Given the description of an element on the screen output the (x, y) to click on. 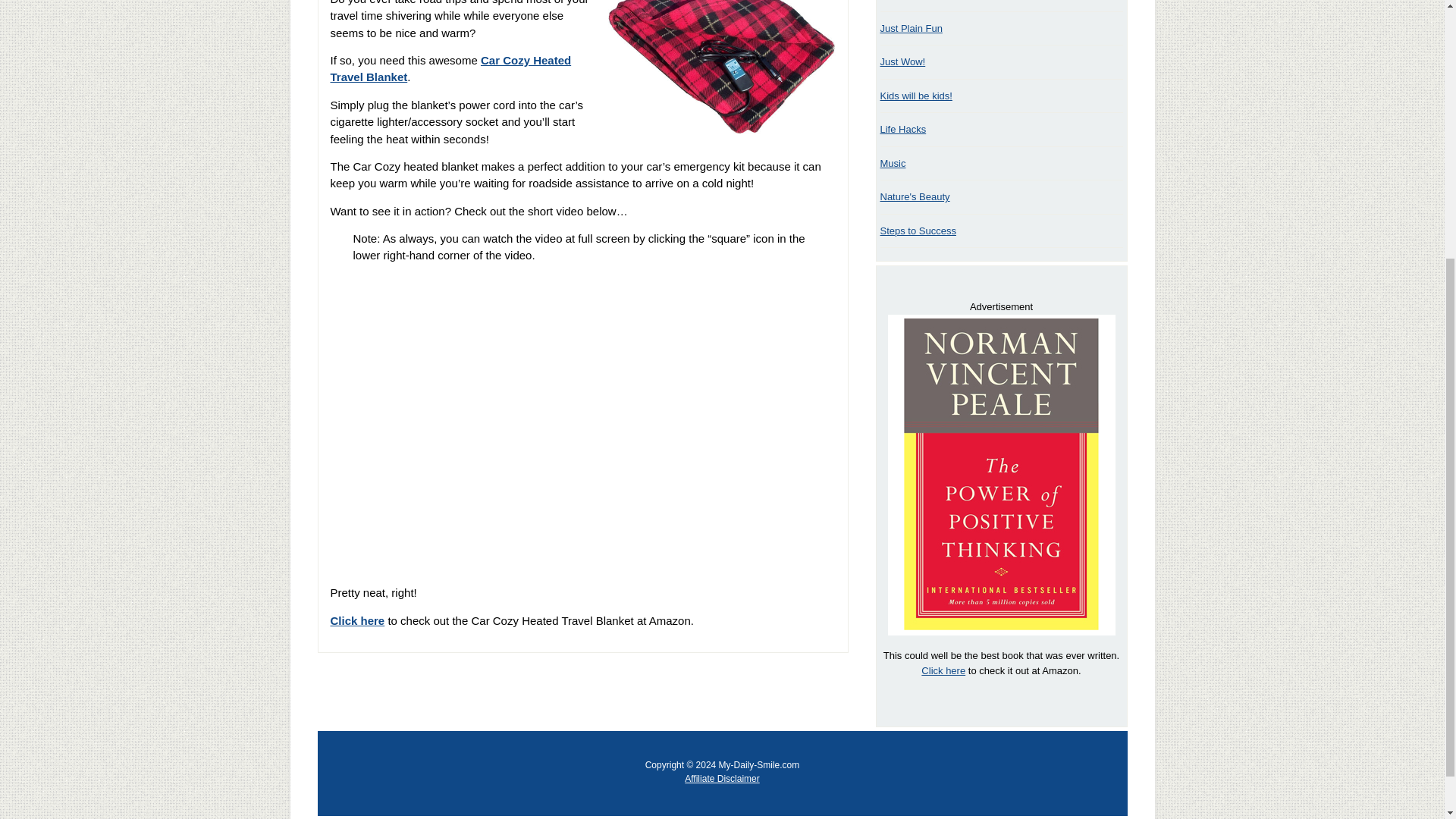
Click here (357, 620)
Steps to Success (917, 230)
Kids will be kids! (915, 95)
Click here (943, 670)
Affiliate Disclaimer (721, 778)
Just Plain Fun (910, 28)
Music (892, 163)
Nature's Beauty (914, 196)
Life Hacks (902, 129)
Car Cozy Heated Travel Blanket (451, 69)
Just Wow! (901, 61)
